Given the description of an element on the screen output the (x, y) to click on. 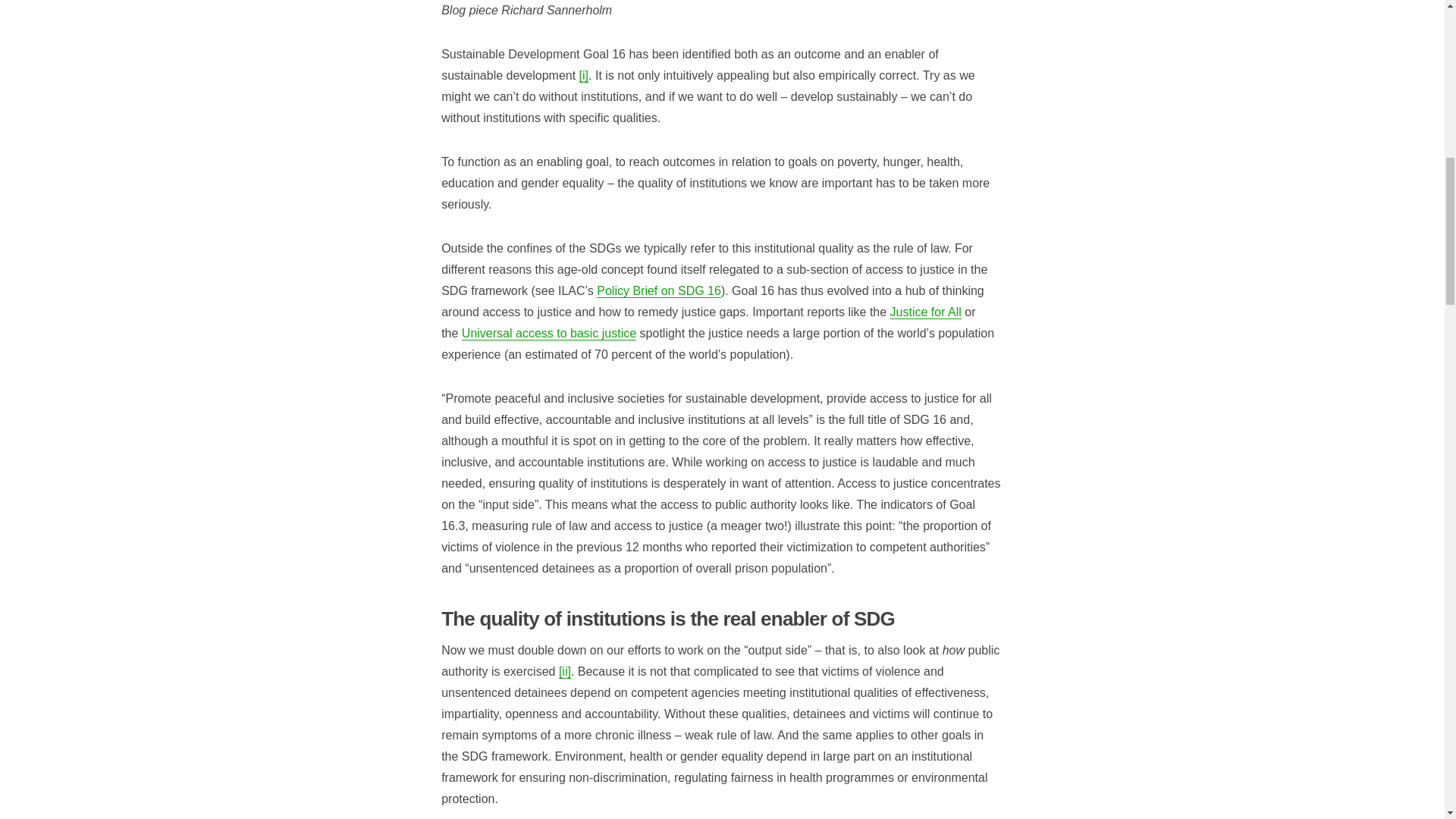
Universal access to basic justice (548, 333)
Justice for All (924, 312)
Policy Brief on SDG 16 (658, 291)
